Given the description of an element on the screen output the (x, y) to click on. 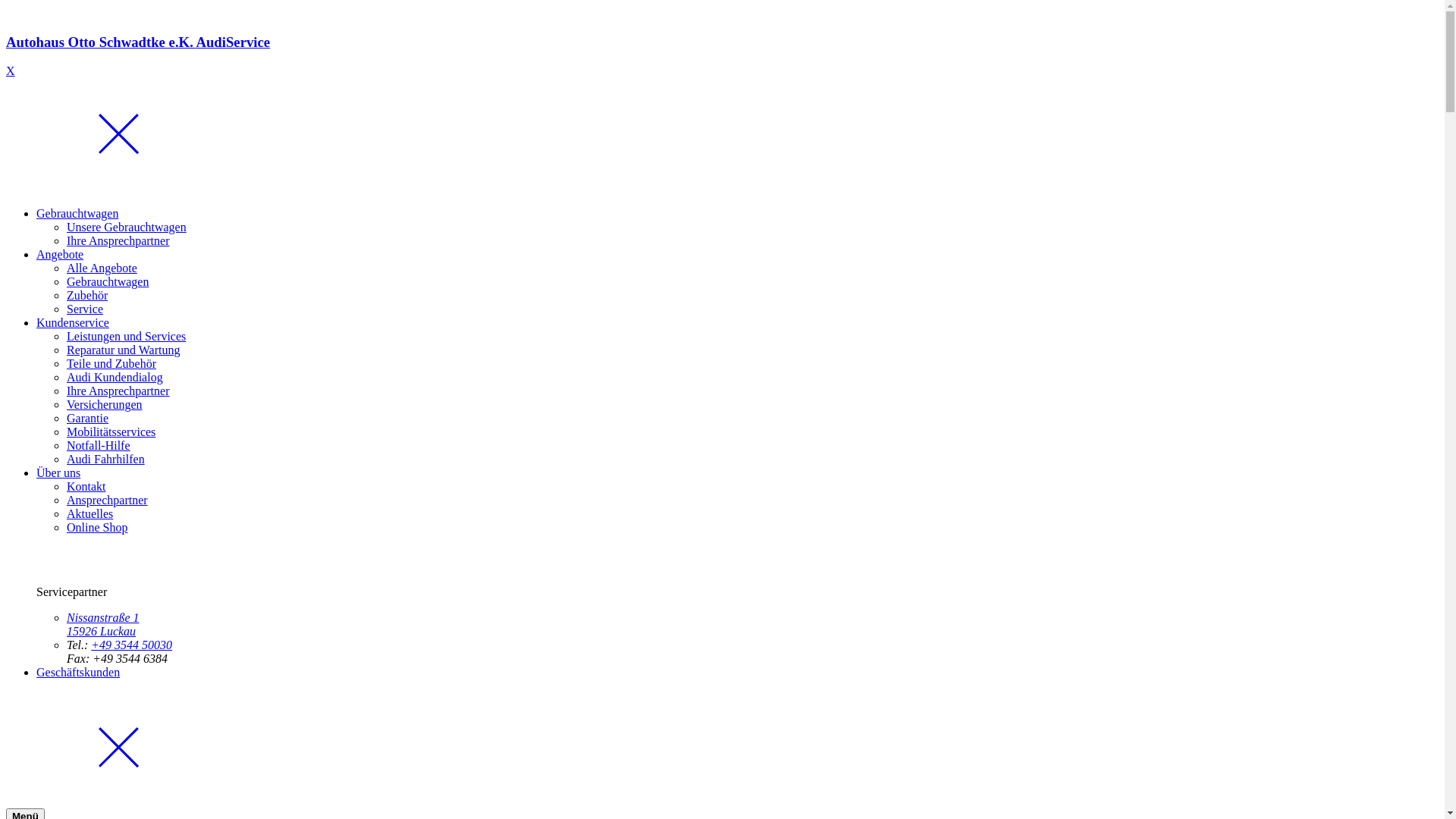
Garantie Element type: text (87, 417)
Kontakt Element type: text (86, 486)
Service Element type: text (84, 308)
Gebrauchtwagen Element type: text (77, 213)
Kundenservice Element type: text (72, 322)
Versicherungen Element type: text (104, 404)
Autohaus Otto Schwadtke e.K. AudiService Element type: text (722, 56)
Ansprechpartner Element type: text (106, 499)
Audi Kundendialog Element type: text (114, 376)
Ihre Ansprechpartner Element type: text (117, 390)
Angebote Element type: text (59, 253)
+49 3544 50030 Element type: text (131, 644)
Audi Fahrhilfen Element type: text (105, 458)
Reparatur und Wartung Element type: text (122, 349)
Ihre Ansprechpartner Element type: text (117, 240)
Gebrauchtwagen Element type: text (107, 281)
Unsere Gebrauchtwagen Element type: text (126, 226)
Leistungen und Services Element type: text (125, 335)
Notfall-Hilfe Element type: text (98, 445)
Online Shop Element type: text (96, 526)
X Element type: text (10, 70)
Alle Angebote Element type: text (101, 267)
Aktuelles Element type: text (89, 513)
